Given the description of an element on the screen output the (x, y) to click on. 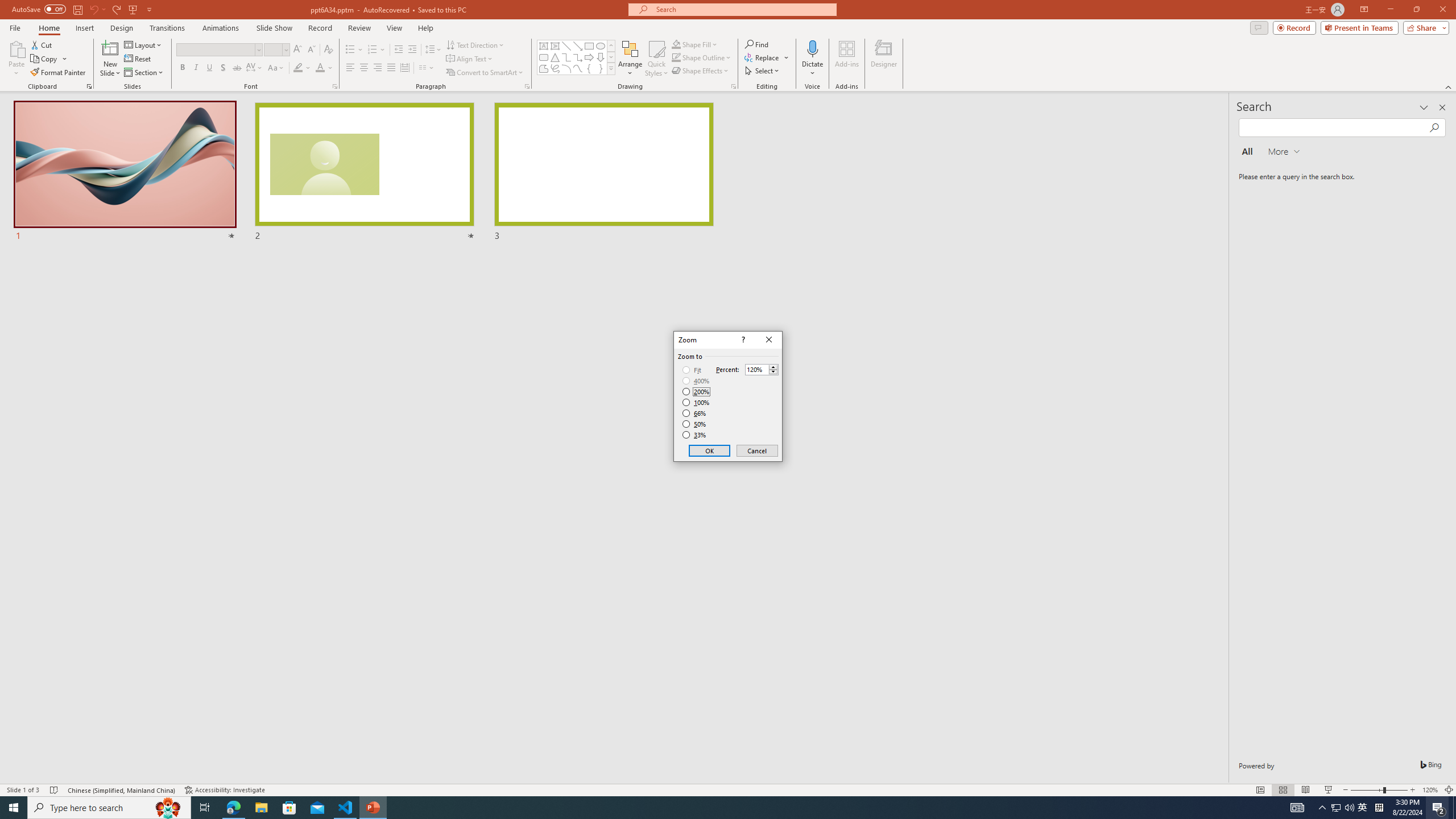
Less (772, 372)
Running applications (707, 807)
